Given the description of an element on the screen output the (x, y) to click on. 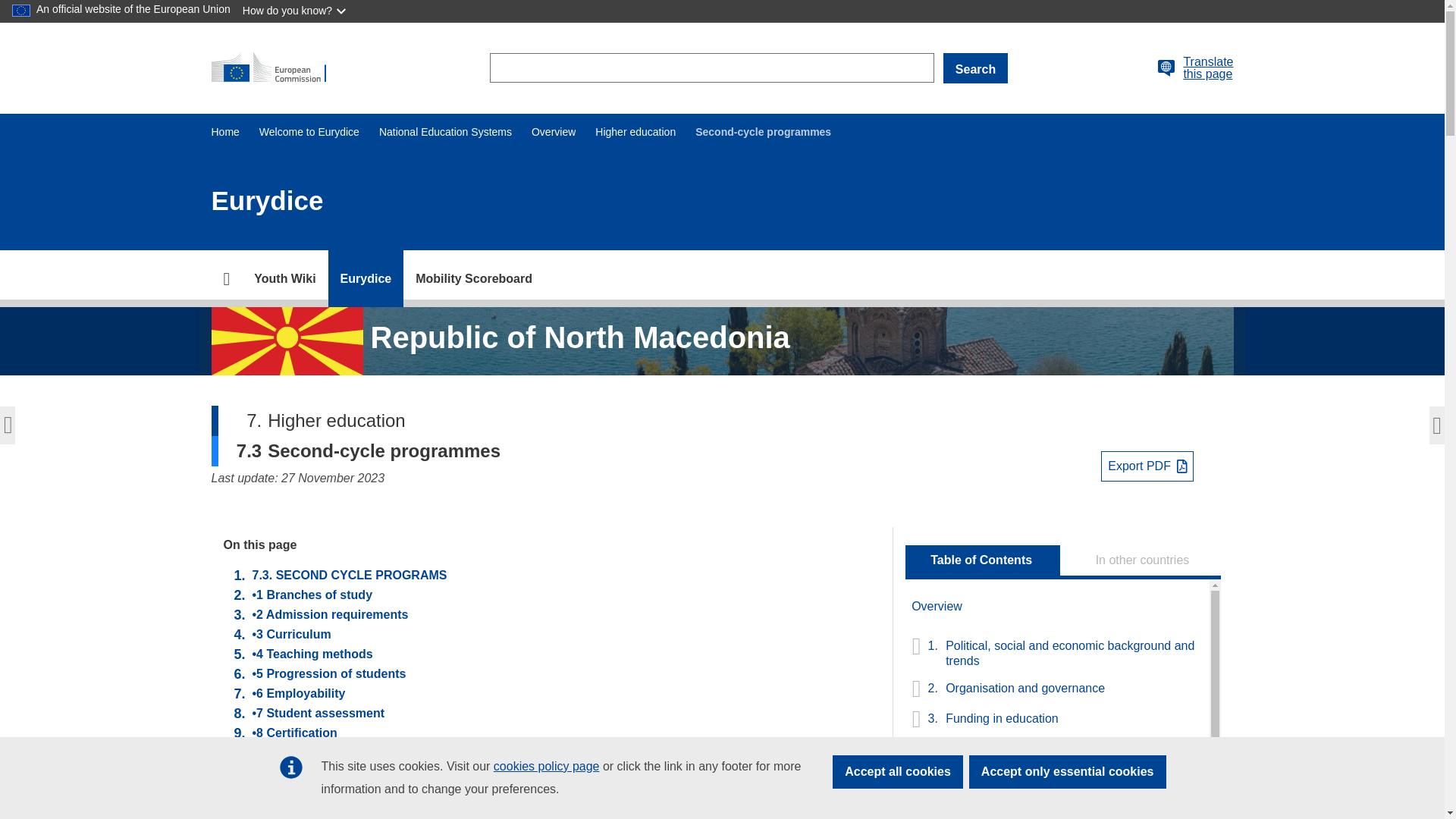
Accept only essential cookies (1067, 771)
Higher education (635, 132)
National Policies Platform (284, 278)
Overview (553, 132)
How do you know? (295, 10)
European Commission (275, 67)
Eurydice (366, 278)
Home (224, 132)
Mobility Scoreboard (473, 278)
cookies policy page (546, 766)
Skip to main content (5, 6)
Translate this page (1207, 68)
Search (975, 68)
Youth Wiki (284, 278)
Accept all cookies (897, 771)
